Given the description of an element on the screen output the (x, y) to click on. 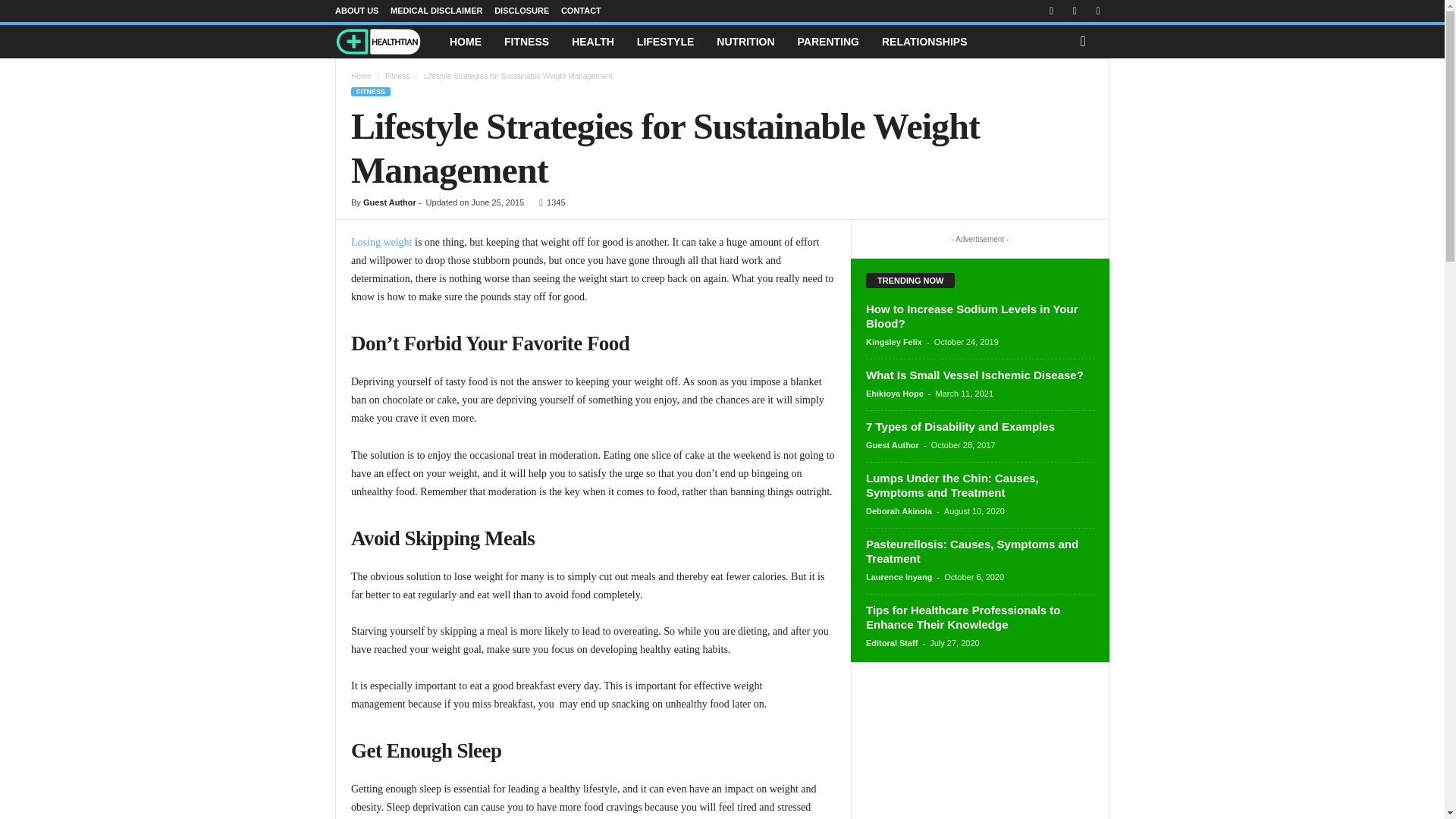
MEDICAL DISCLAIMER (435, 10)
FITNESS (370, 91)
Healthtian (386, 41)
Home (360, 76)
NUTRITION (745, 41)
LIFESTYLE (665, 41)
RELATIONSHIPS (924, 41)
FITNESS (526, 41)
PARENTING (828, 41)
Fitness (397, 76)
